Given the description of an element on the screen output the (x, y) to click on. 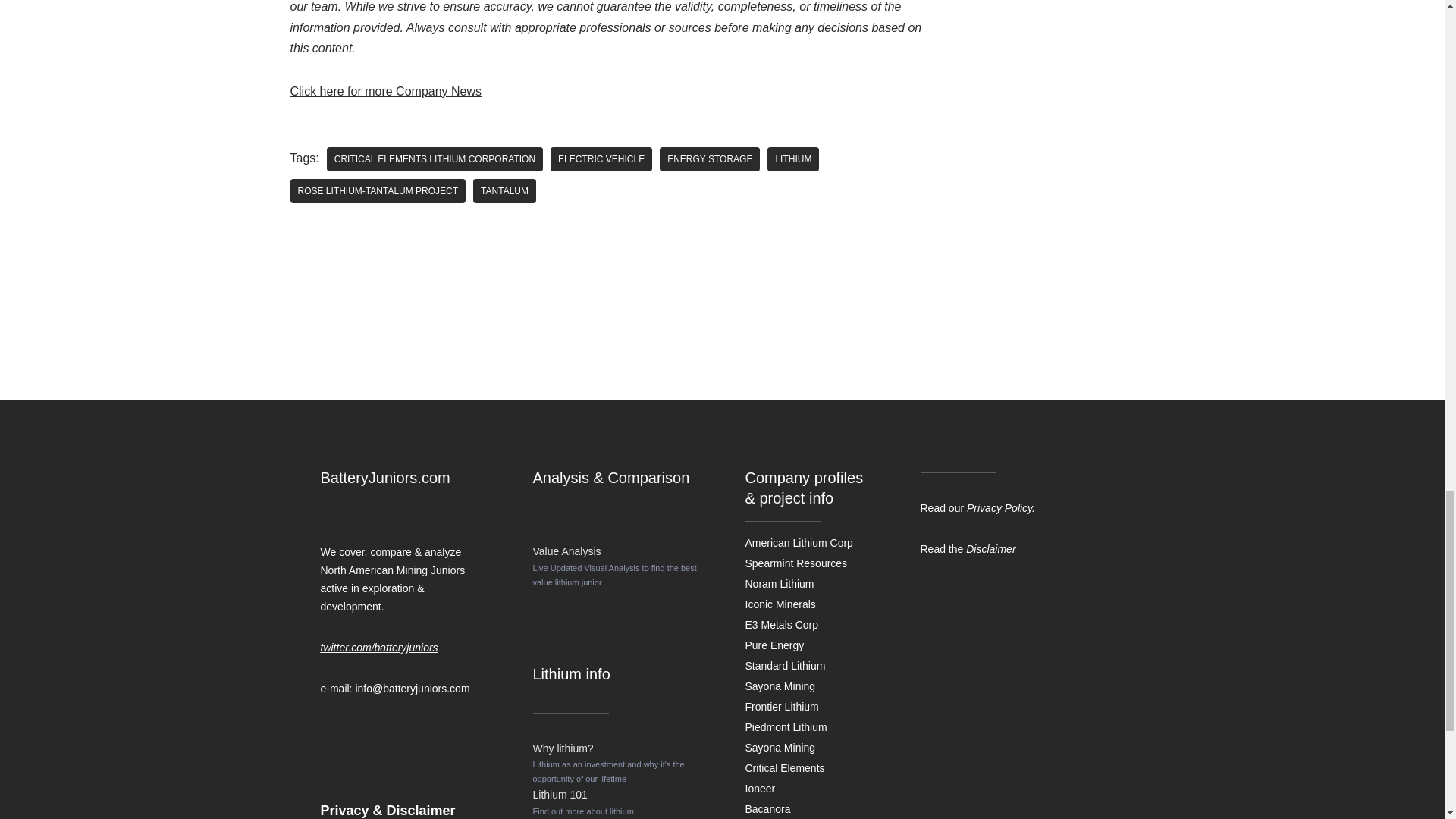
Rose Lithium-Tantalum Project (377, 191)
lithium (792, 159)
Tantalum (504, 191)
Critical Elements Lithium Corporation (434, 159)
Electric Vehicle (601, 159)
Energy Storage (709, 159)
